Given the description of an element on the screen output the (x, y) to click on. 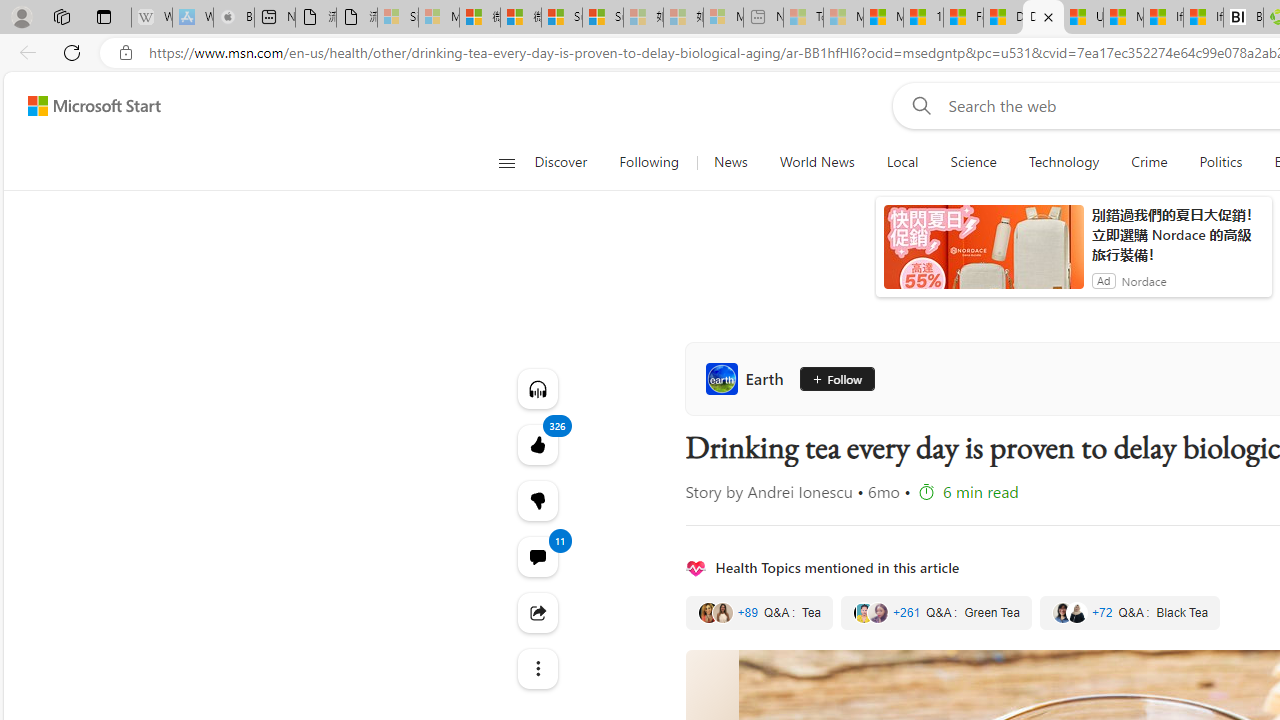
Web search (917, 105)
Following (649, 162)
Discover (560, 162)
326 (537, 500)
Technology (1064, 162)
Earth (748, 378)
News (729, 162)
New tab - Sleeping (763, 17)
Microsoft account | Account Checkup - Sleeping (723, 17)
Technology (1063, 162)
Buy iPad - Apple - Sleeping (233, 17)
New tab (274, 17)
Green Tea (935, 613)
Local (902, 162)
